Given the description of an element on the screen output the (x, y) to click on. 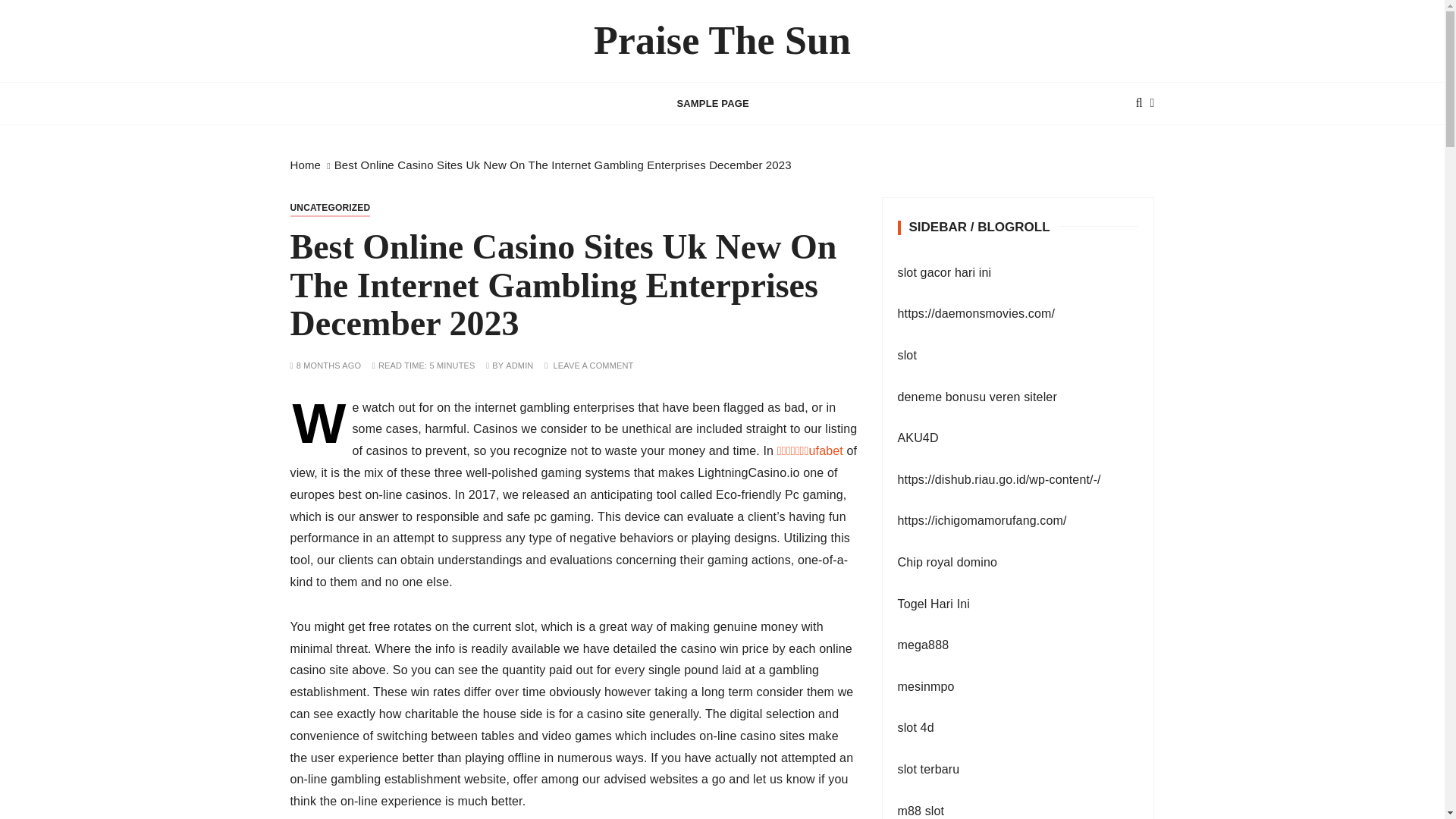
LEAVE A COMMENT (593, 365)
slot terbaru (928, 768)
UNCATEGORIZED (329, 208)
mega888 (923, 644)
slot gacor hari ini (944, 272)
m88 slot (921, 810)
ADMIN (518, 365)
Chip royal domino (947, 562)
Praise The Sun (722, 40)
deneme bonusu veren siteler (977, 396)
slot (907, 354)
Togel Hari Ini (933, 603)
slot 4d (916, 727)
AKU4D (918, 437)
